Given the description of an element on the screen output the (x, y) to click on. 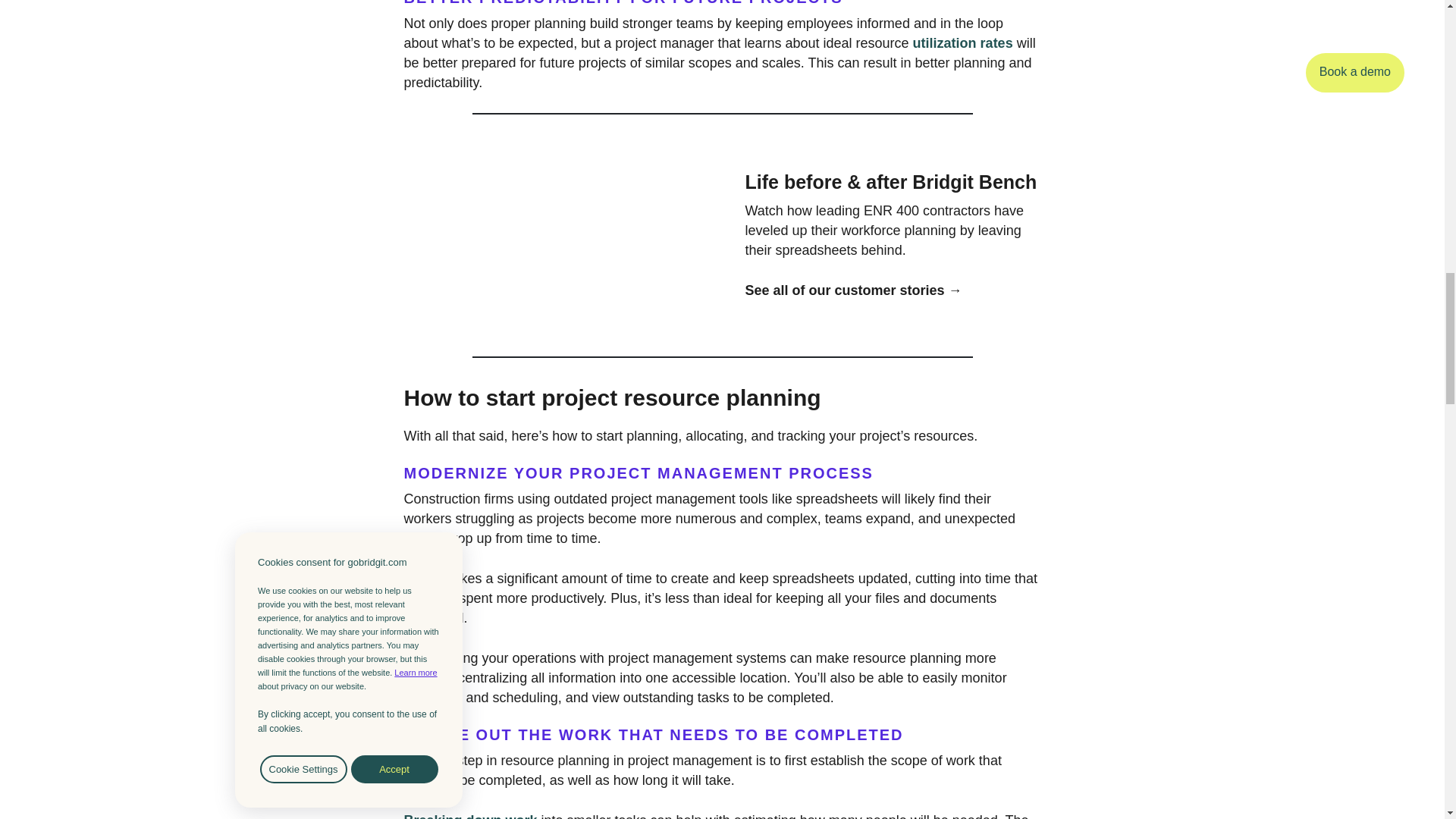
utilization (944, 43)
